Given the description of an element on the screen output the (x, y) to click on. 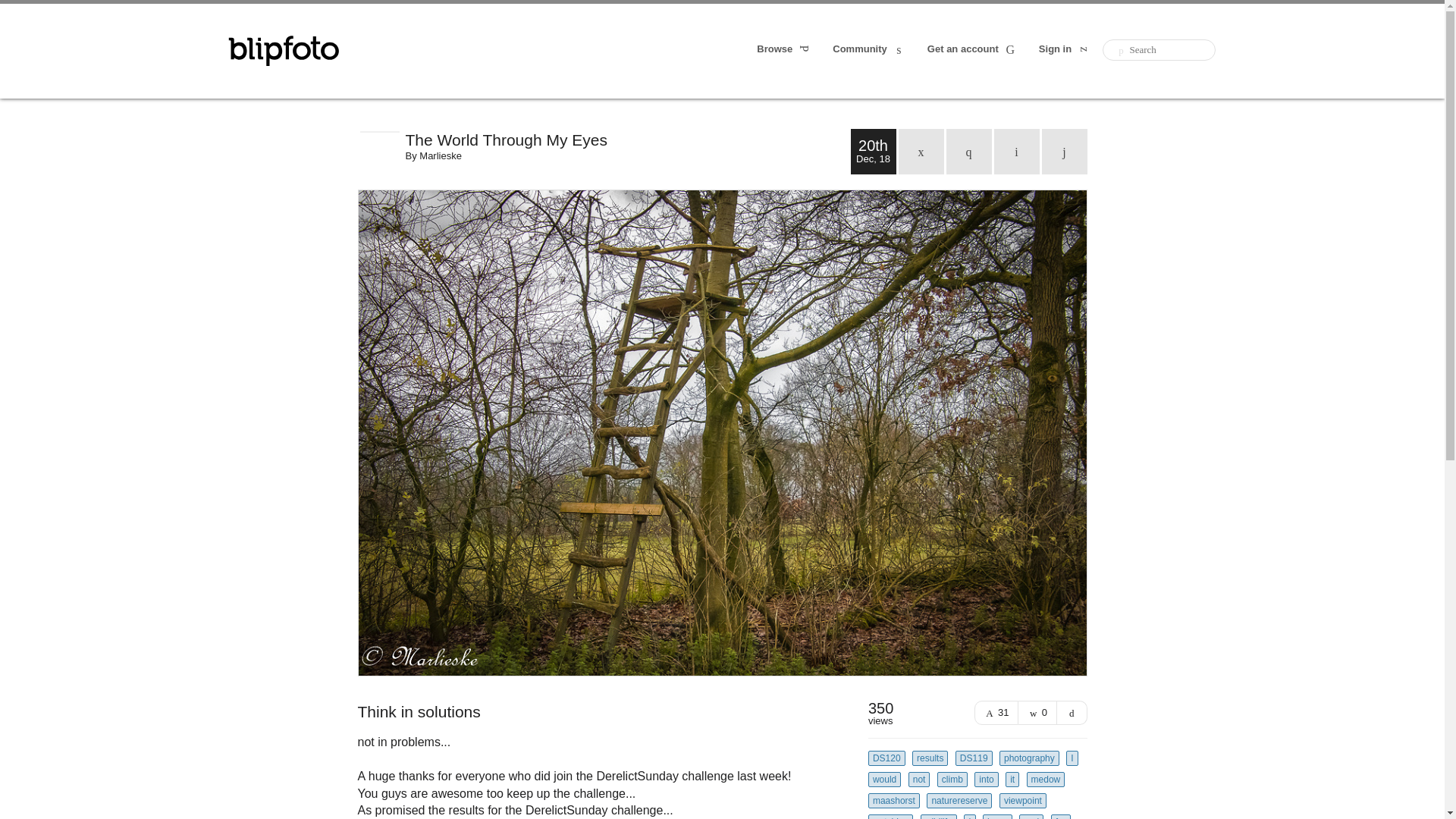
One year ago (968, 151)
Sign in (1064, 50)
Browse (783, 50)
DS120 (886, 758)
Marlieske (440, 155)
results (929, 758)
Community (868, 50)
Get an account (972, 50)
The World Through My Eyes (627, 139)
Next (1064, 151)
Previous (1015, 151)
calendar (920, 151)
Show large (1072, 712)
